Given the description of an element on the screen output the (x, y) to click on. 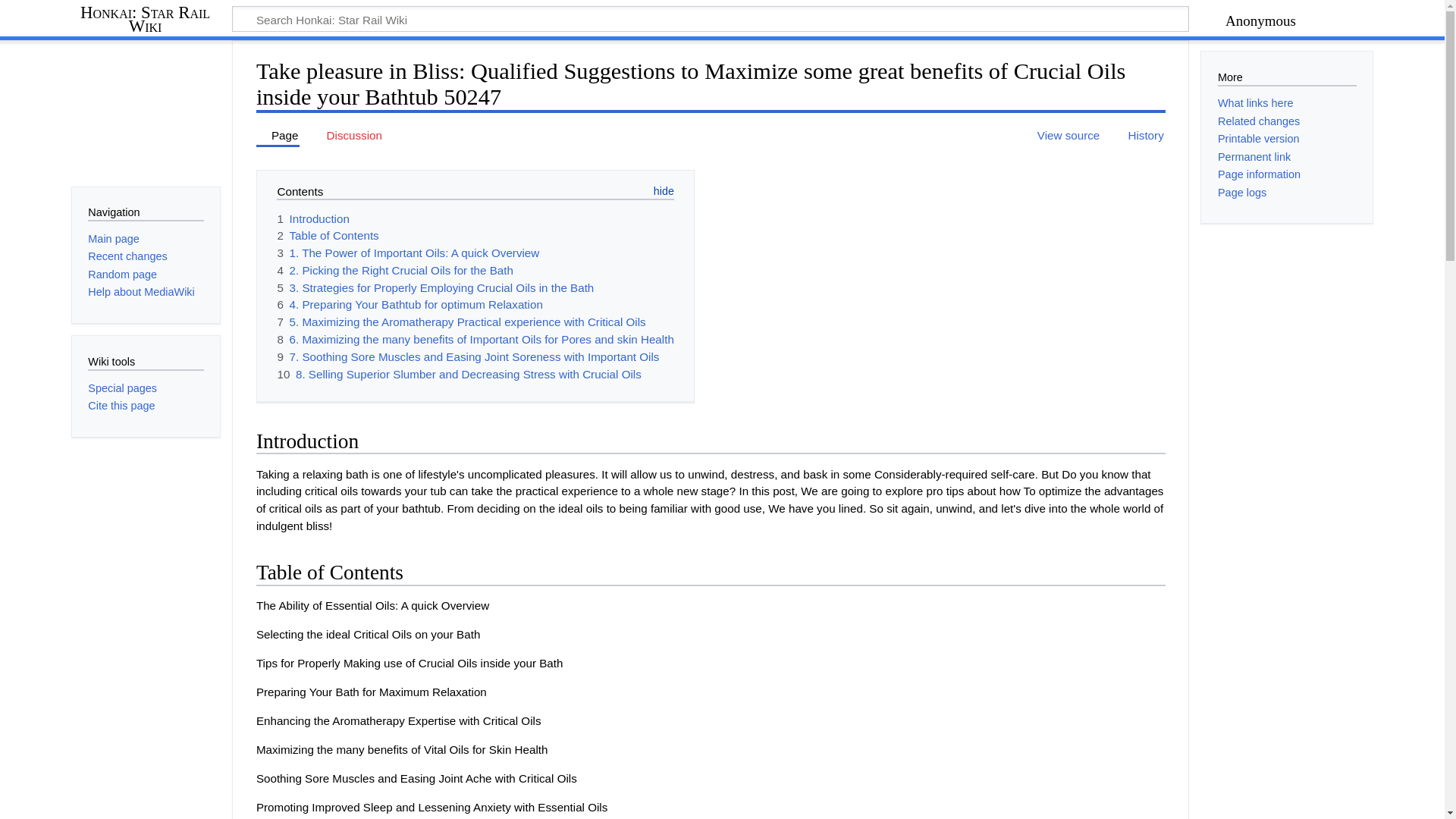
History (1138, 135)
Printable version (1258, 138)
Go (1155, 21)
Cite this page (120, 405)
Help about MediaWiki (140, 291)
Page logs (1241, 192)
1 Introduction (312, 218)
Main page (112, 238)
Page (277, 135)
Search (1155, 21)
Go (1155, 21)
Related changes (1258, 121)
6 4. Preparing Your Bathtub for optimum Relaxation (408, 304)
Permanent link (1253, 156)
